Given the description of an element on the screen output the (x, y) to click on. 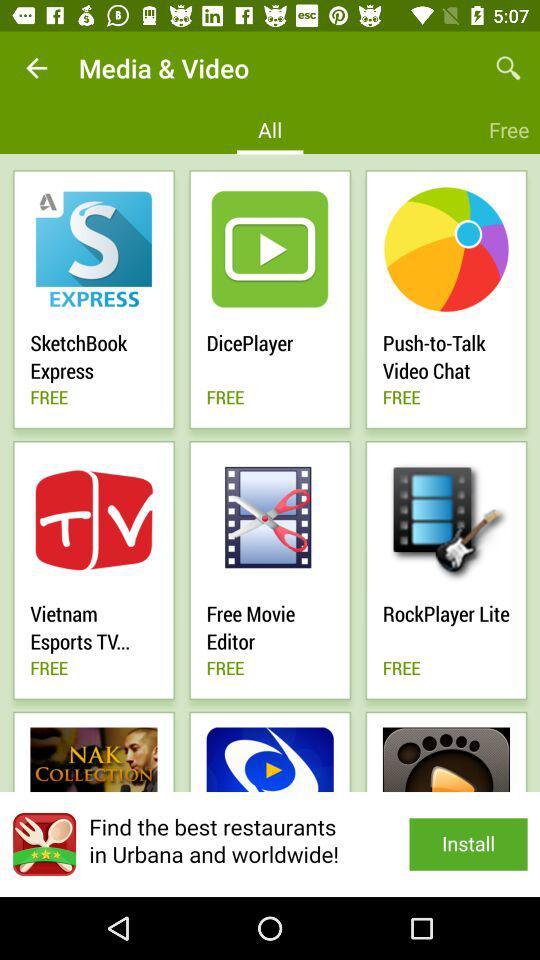
open an advertisements (270, 844)
